Given the description of an element on the screen output the (x, y) to click on. 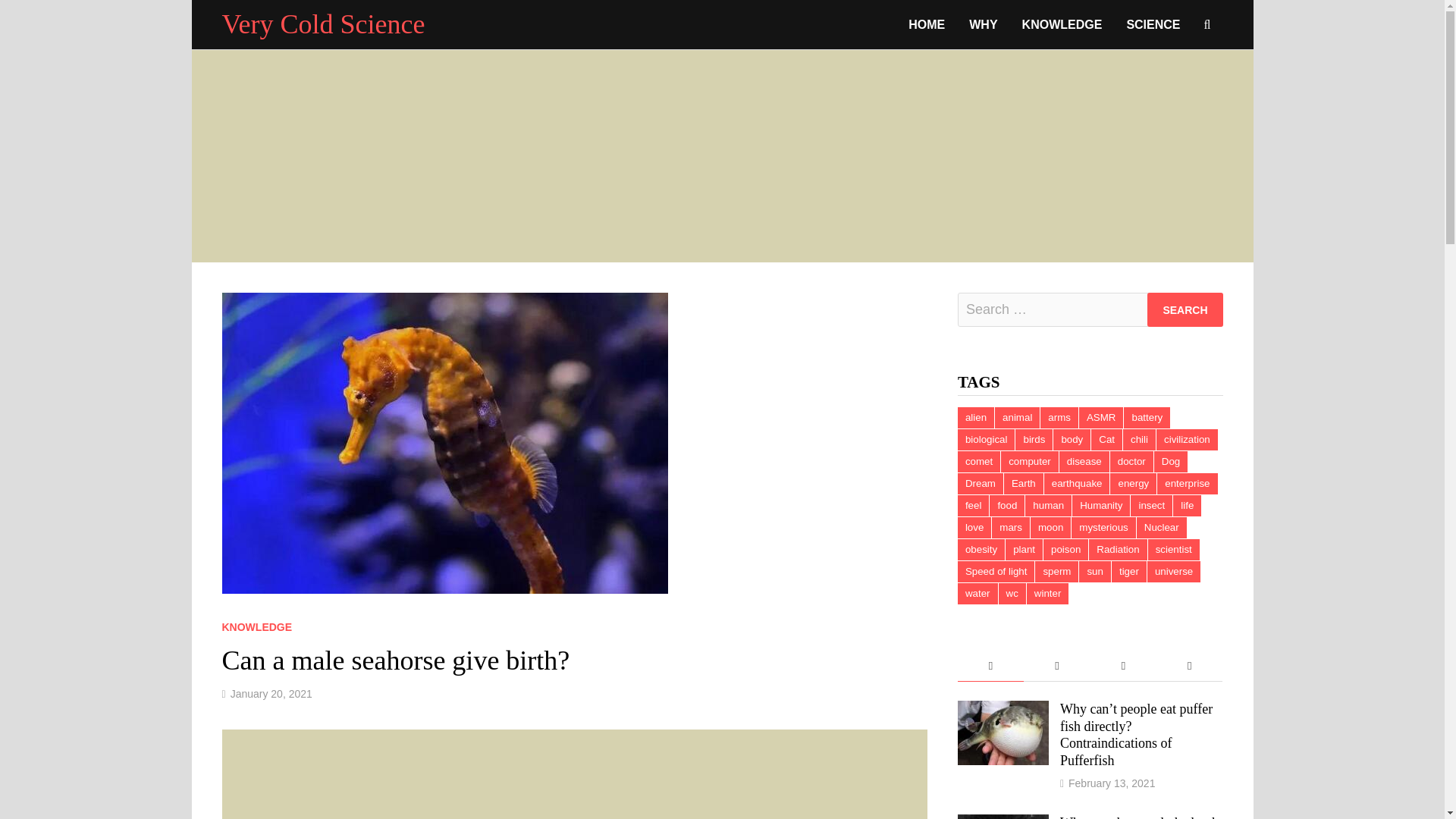
animal (1016, 417)
HOME (926, 24)
Very Cold Science (323, 24)
Search (1185, 309)
Search (1185, 309)
KNOWLEDGE (1062, 24)
January 20, 2021 (271, 693)
WHY (982, 24)
What are the two dark clouds above classical physics? (1003, 817)
